Given the description of an element on the screen output the (x, y) to click on. 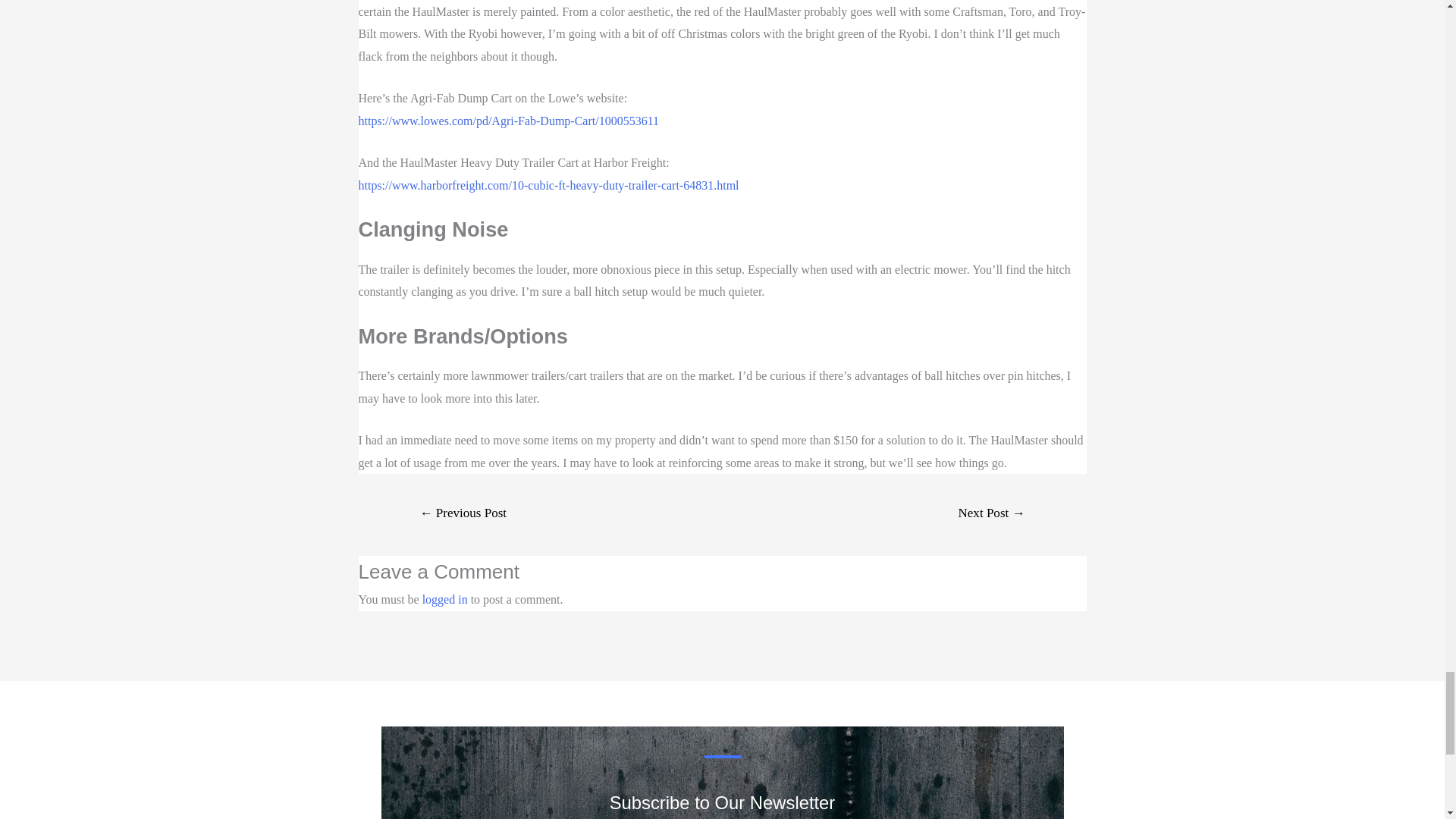
logged in (444, 599)
